Given the description of an element on the screen output the (x, y) to click on. 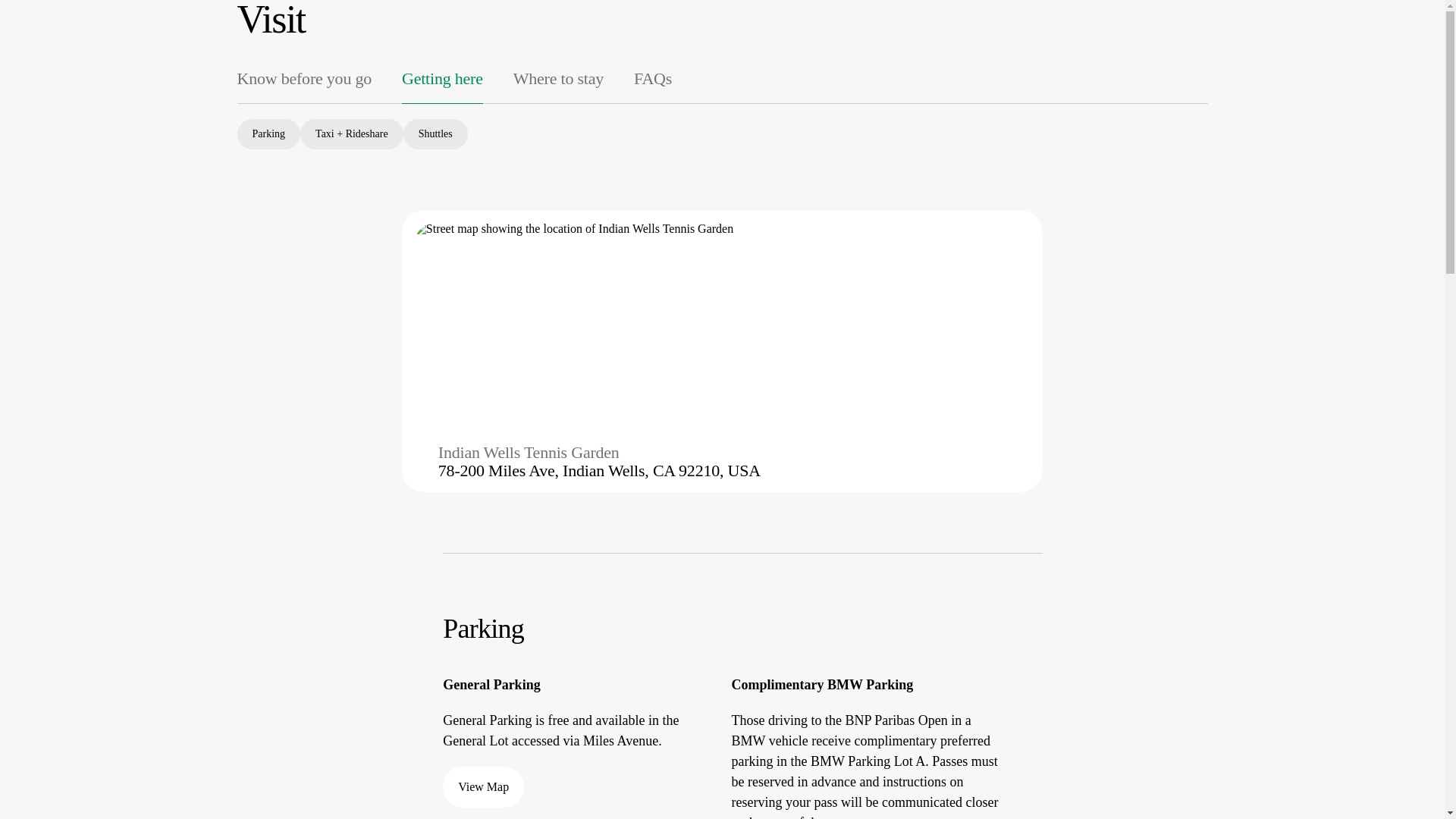
Know before you go (303, 78)
View Map (483, 786)
Where to stay (558, 78)
Parking (267, 133)
FAQs (652, 78)
Shuttles (435, 133)
Getting here (442, 78)
